Given the description of an element on the screen output the (x, y) to click on. 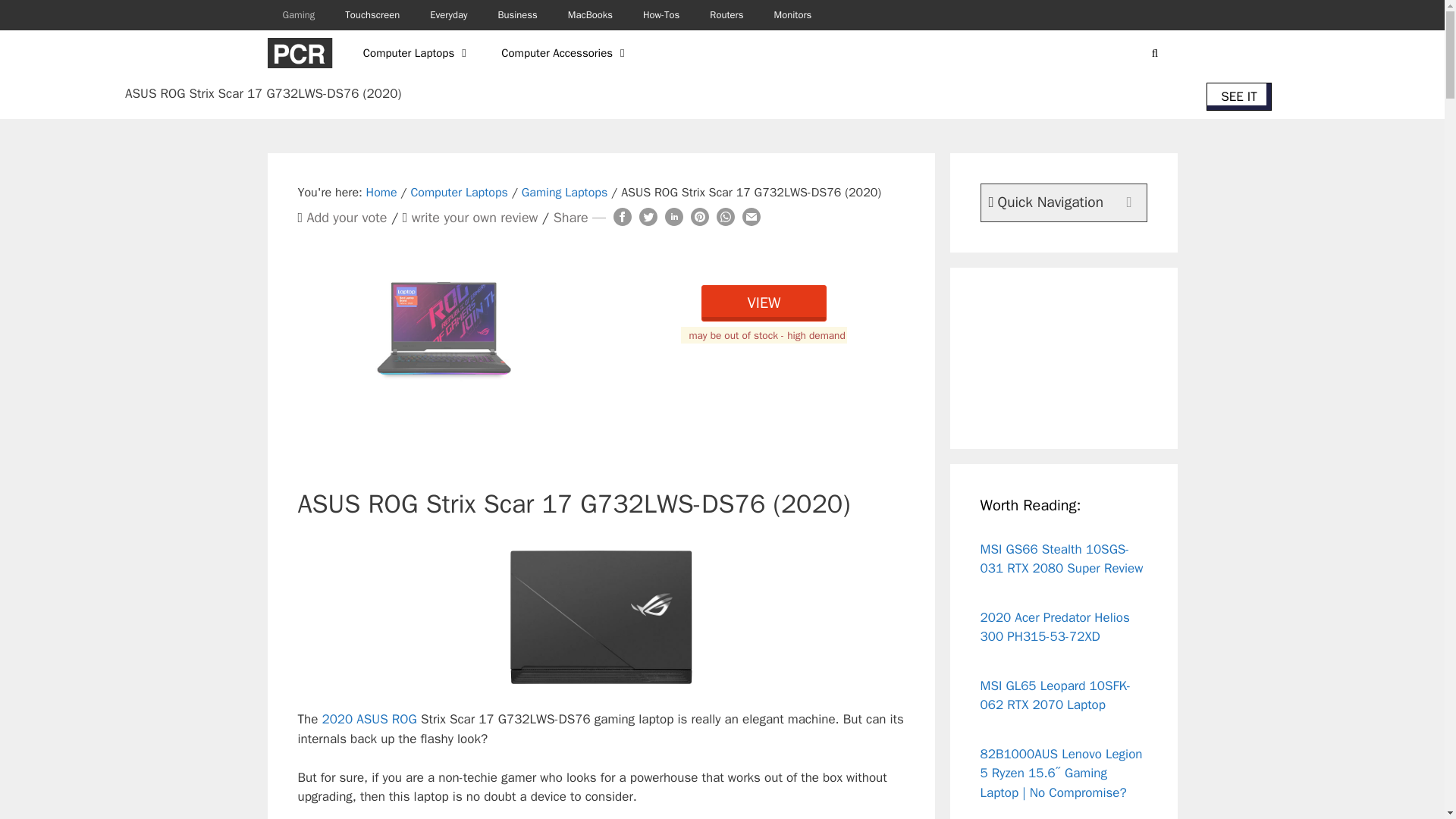
Routers (726, 15)
Add your vote (346, 217)
SEE IT (1239, 96)
Gaming (298, 15)
Share this post! (725, 220)
Computer Laptops (458, 192)
Tweet this post! (648, 220)
Computer Laptops (416, 53)
How-Tos (660, 15)
